Given the description of an element on the screen output the (x, y) to click on. 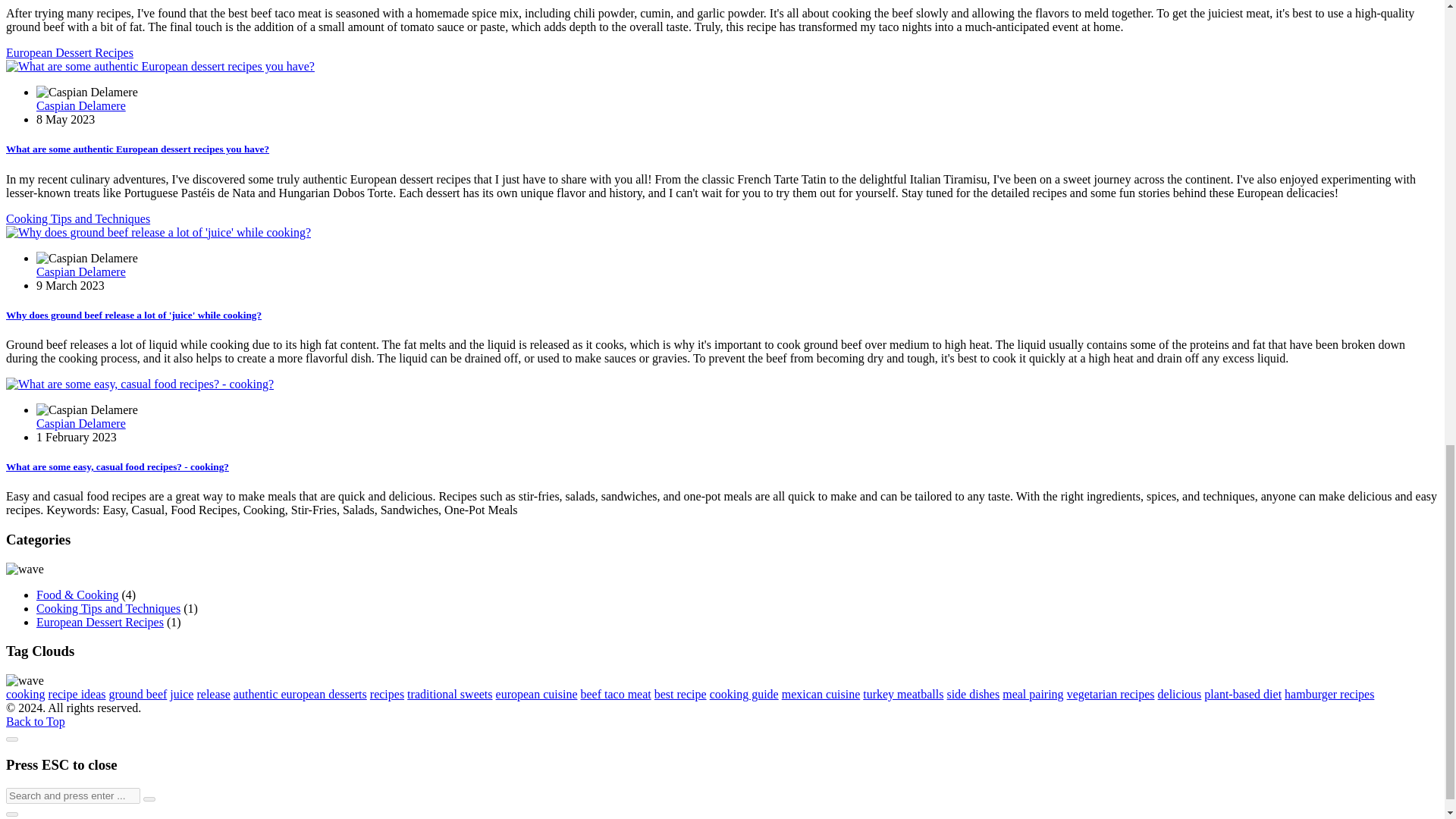
authentic european desserts (299, 694)
Cooking Tips and Techniques (77, 218)
juice (181, 694)
release (213, 694)
Caspian Delamere (80, 105)
What are some easy, casual food recipes? - cooking? (116, 466)
Caspian Delamere (80, 271)
Why does ground beef release a lot of 'juice' while cooking? (133, 315)
European Dessert Recipes (69, 51)
ground beef (138, 694)
Caspian Delamere (80, 422)
cooking (25, 694)
Cooking Tips and Techniques (108, 608)
What are some authentic European dessert recipes you have? (137, 148)
recipe ideas (77, 694)
